Given the description of an element on the screen output the (x, y) to click on. 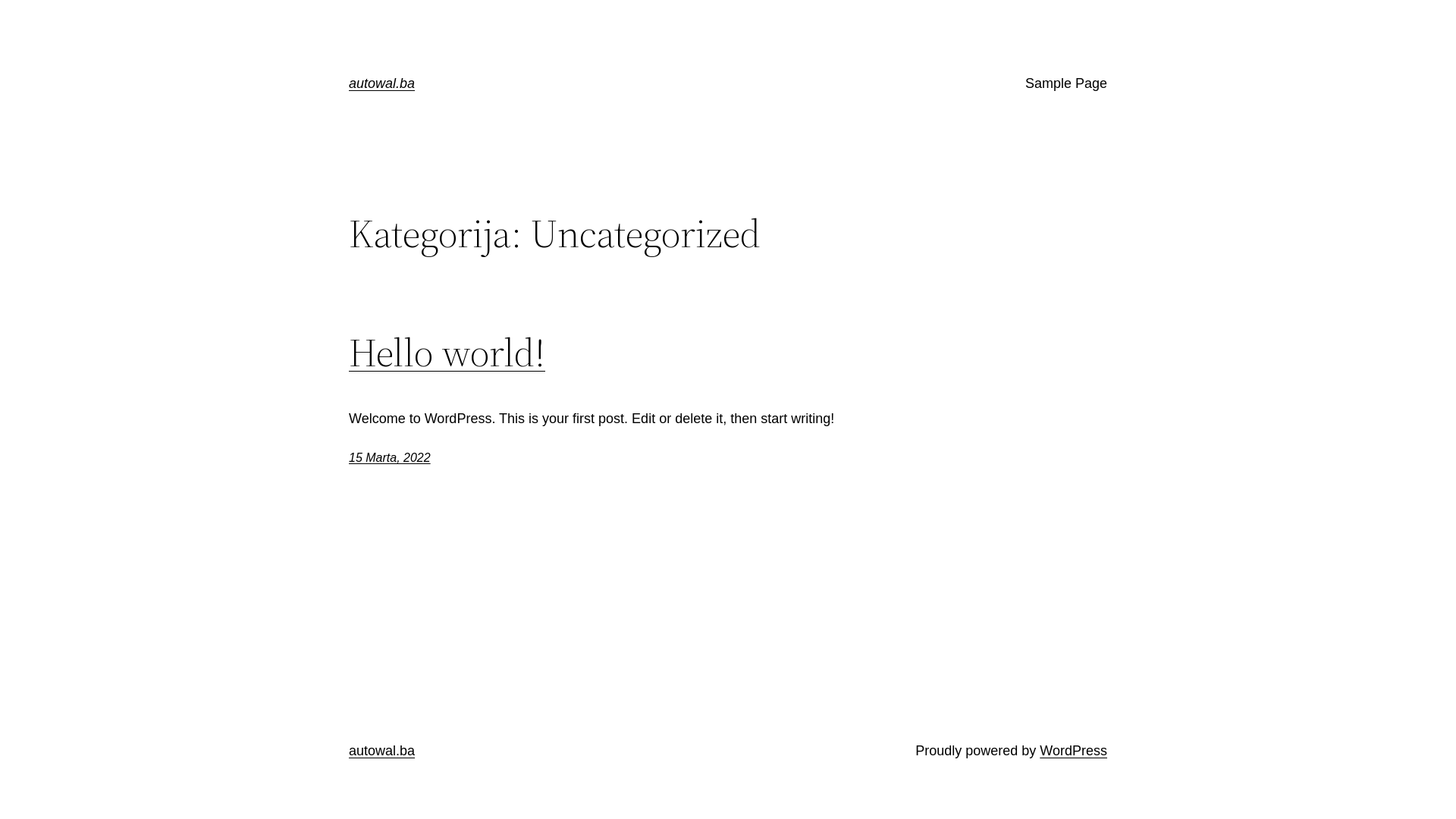
Sample Page Element type: text (1066, 83)
autowal.ba Element type: text (381, 83)
Hello world! Element type: text (446, 352)
15 Marta, 2022 Element type: text (389, 457)
WordPress Element type: text (1073, 750)
autowal.ba Element type: text (381, 750)
